Given the description of an element on the screen output the (x, y) to click on. 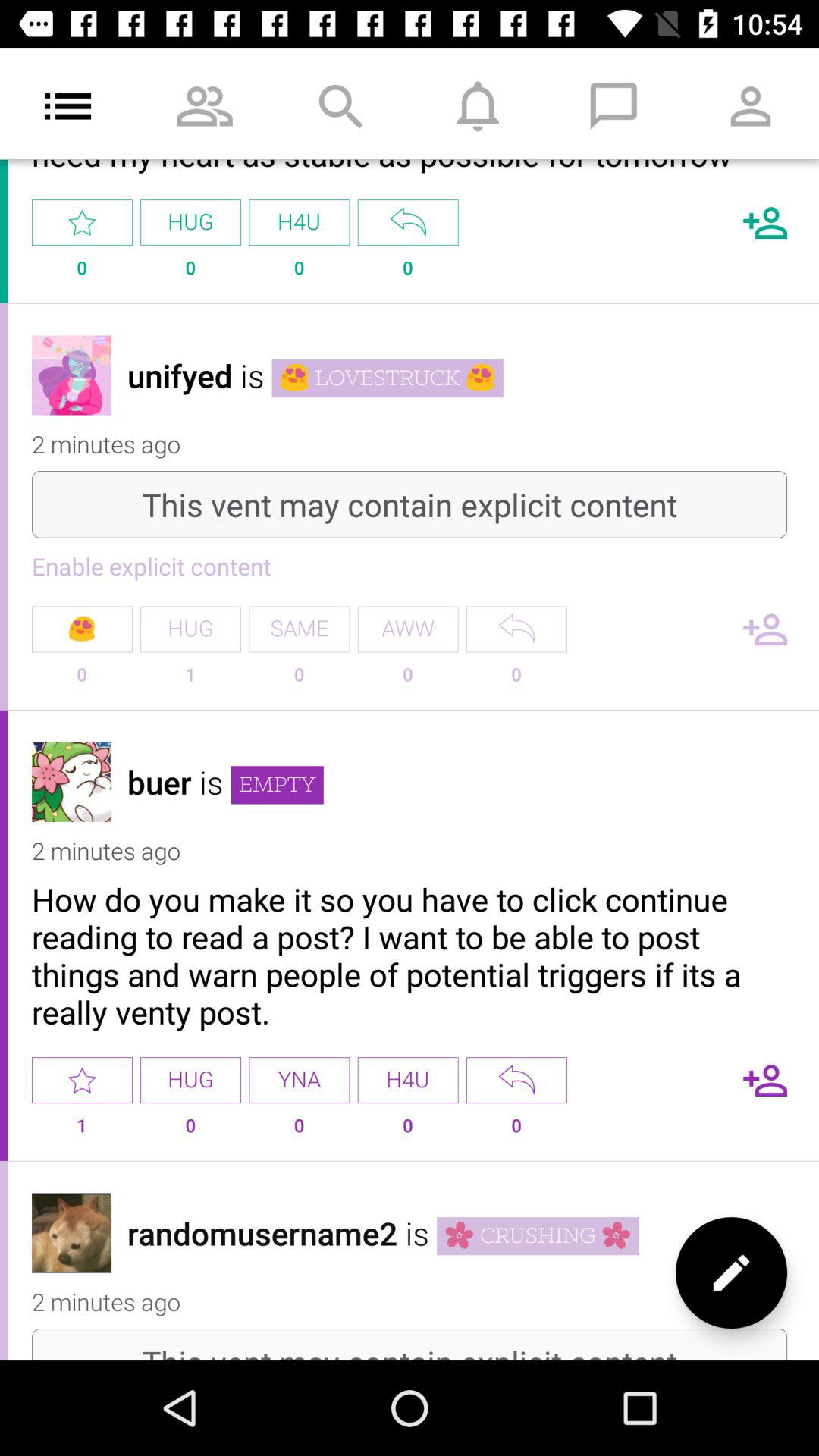
choose the item next to the hug (299, 1080)
